Given the description of an element on the screen output the (x, y) to click on. 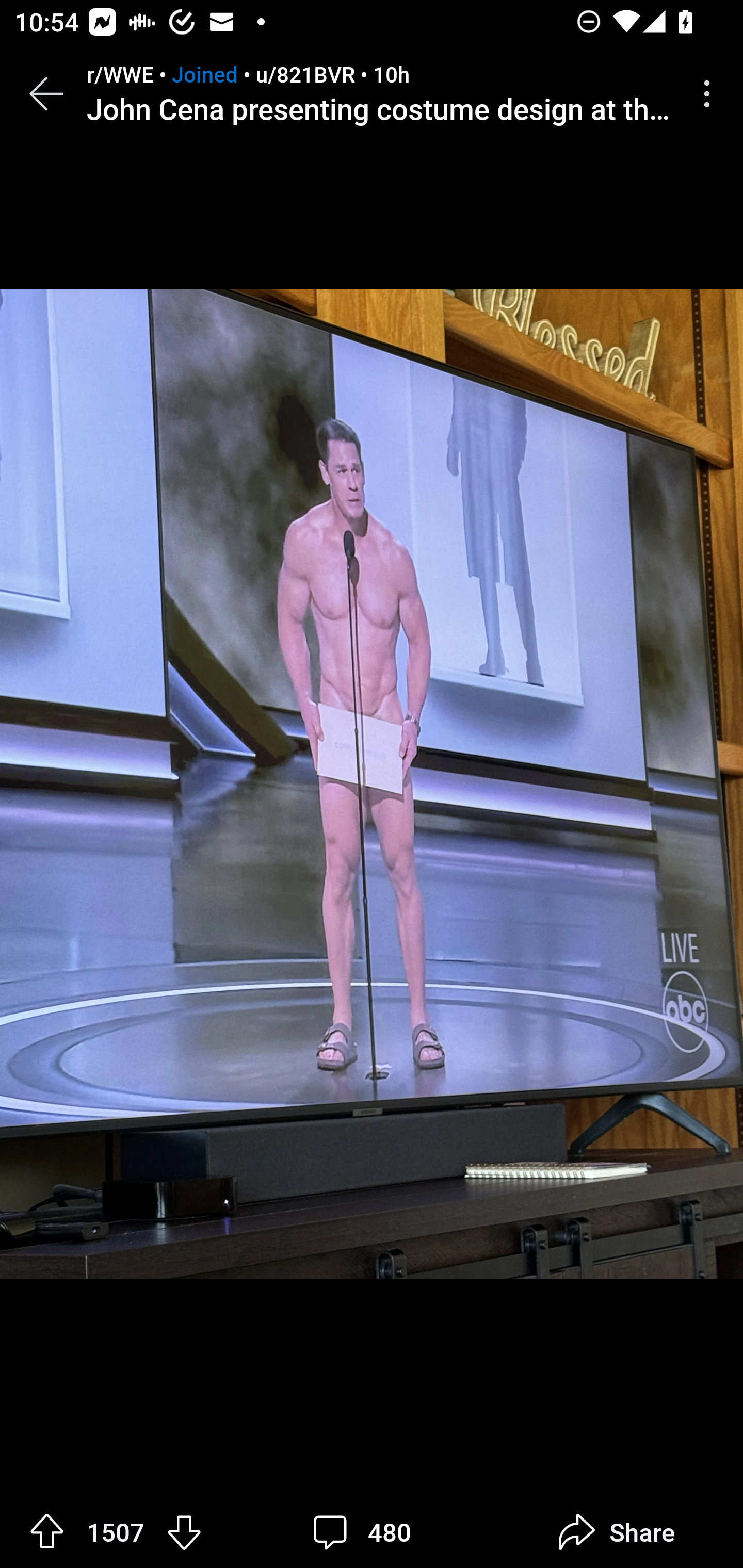
Back (46, 93)
More options (710, 93)
Upvote 1507 votes Downvote (115, 1531)
480 comments 480 (367, 1531)
Share (616, 1531)
Upvote (46, 1531)
Downvote (184, 1531)
